Given the description of an element on the screen output the (x, y) to click on. 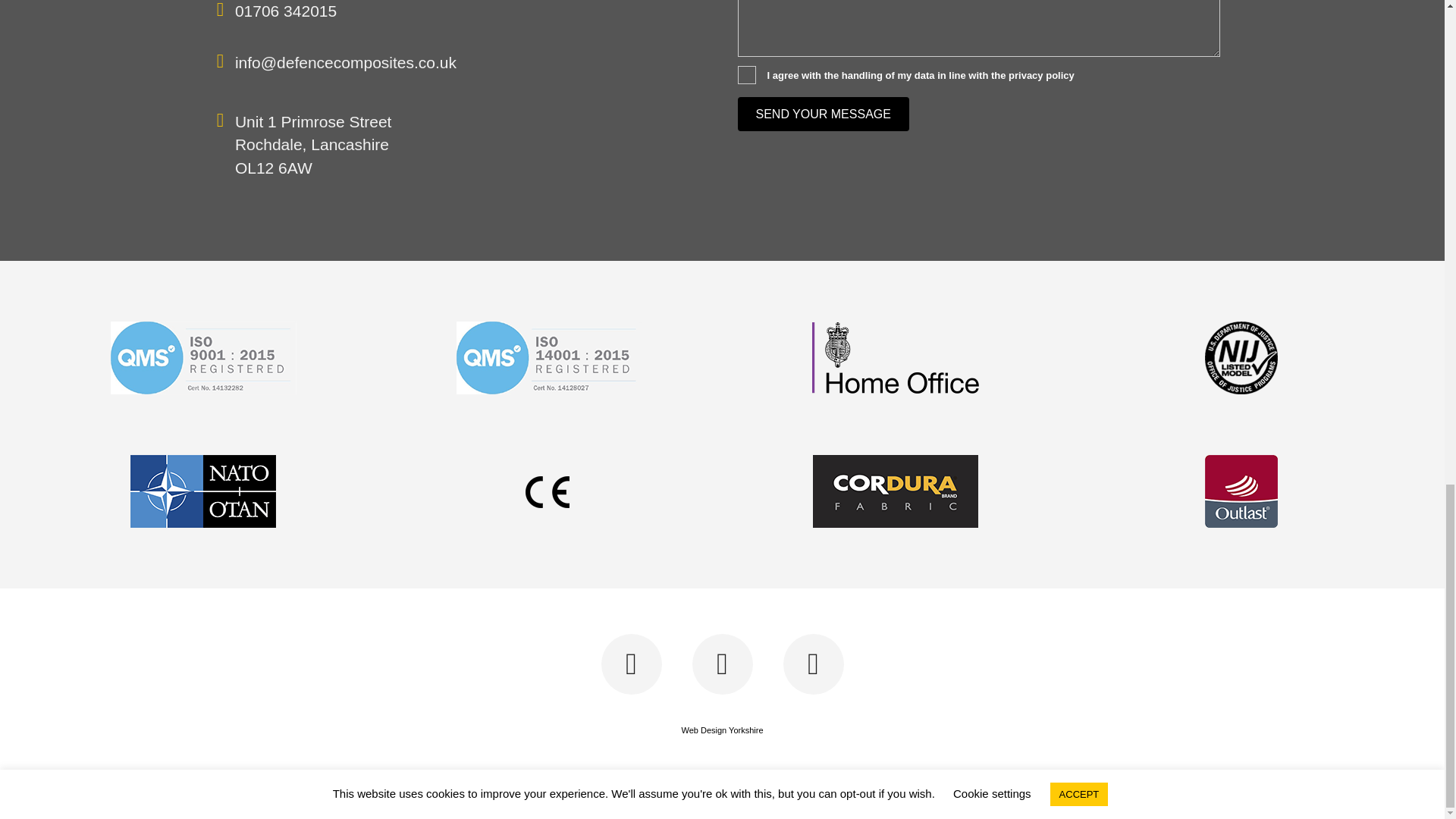
Home Office (895, 357)
CE (549, 491)
ISO 14001 (549, 357)
ISO 9001 (203, 357)
NIJ listed model (1240, 357)
CORDURA fabric (895, 491)
NATO (202, 491)
Outlast (1240, 491)
